Given the description of an element on the screen output the (x, y) to click on. 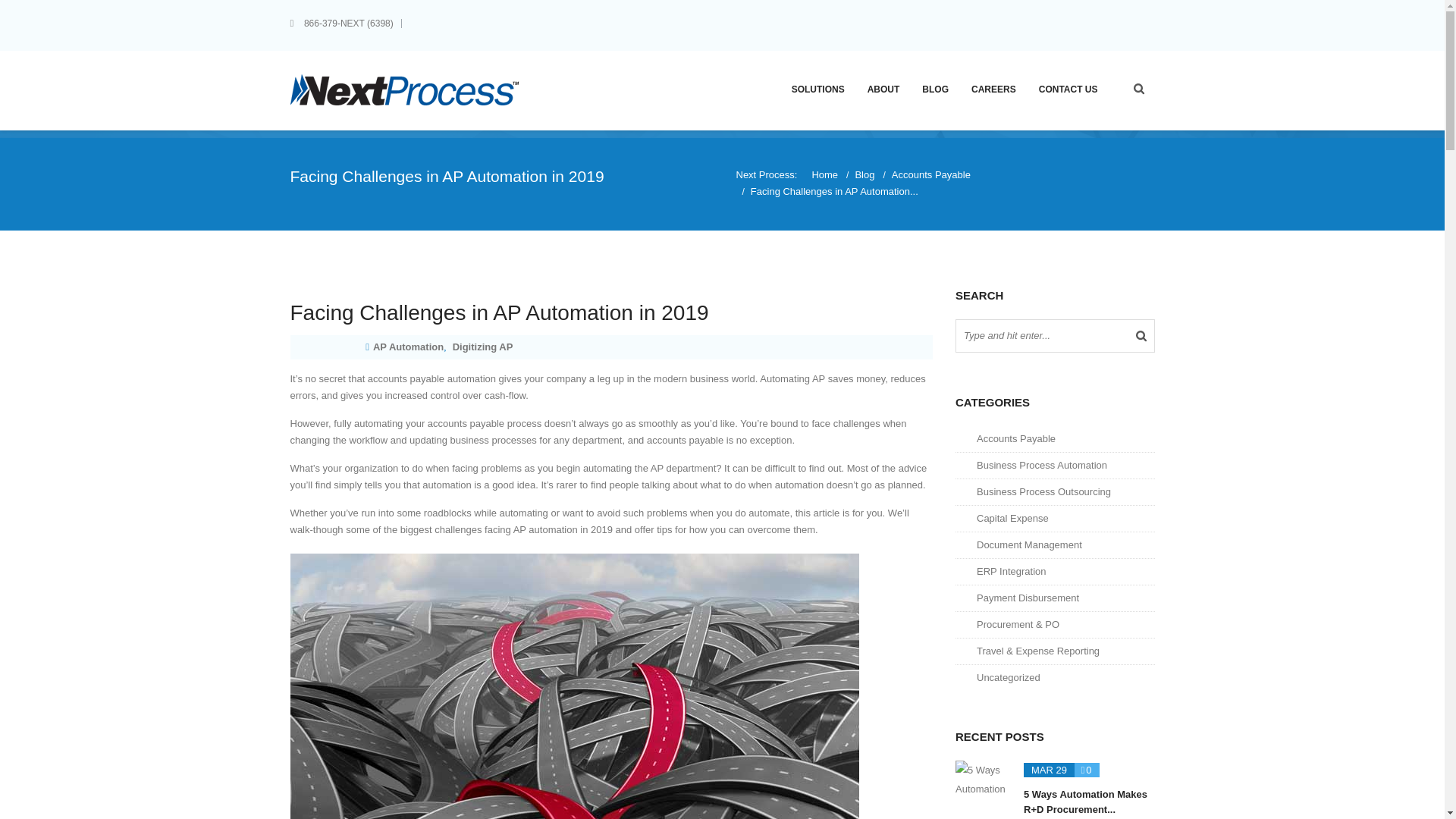
SOLUTIONS (818, 88)
Accounts Payable (931, 174)
CAREERS (993, 88)
CONTACT US (1068, 88)
Facing Challenges in AP Automation in 2019 (611, 312)
Blog (864, 174)
Home (824, 174)
